Given the description of an element on the screen output the (x, y) to click on. 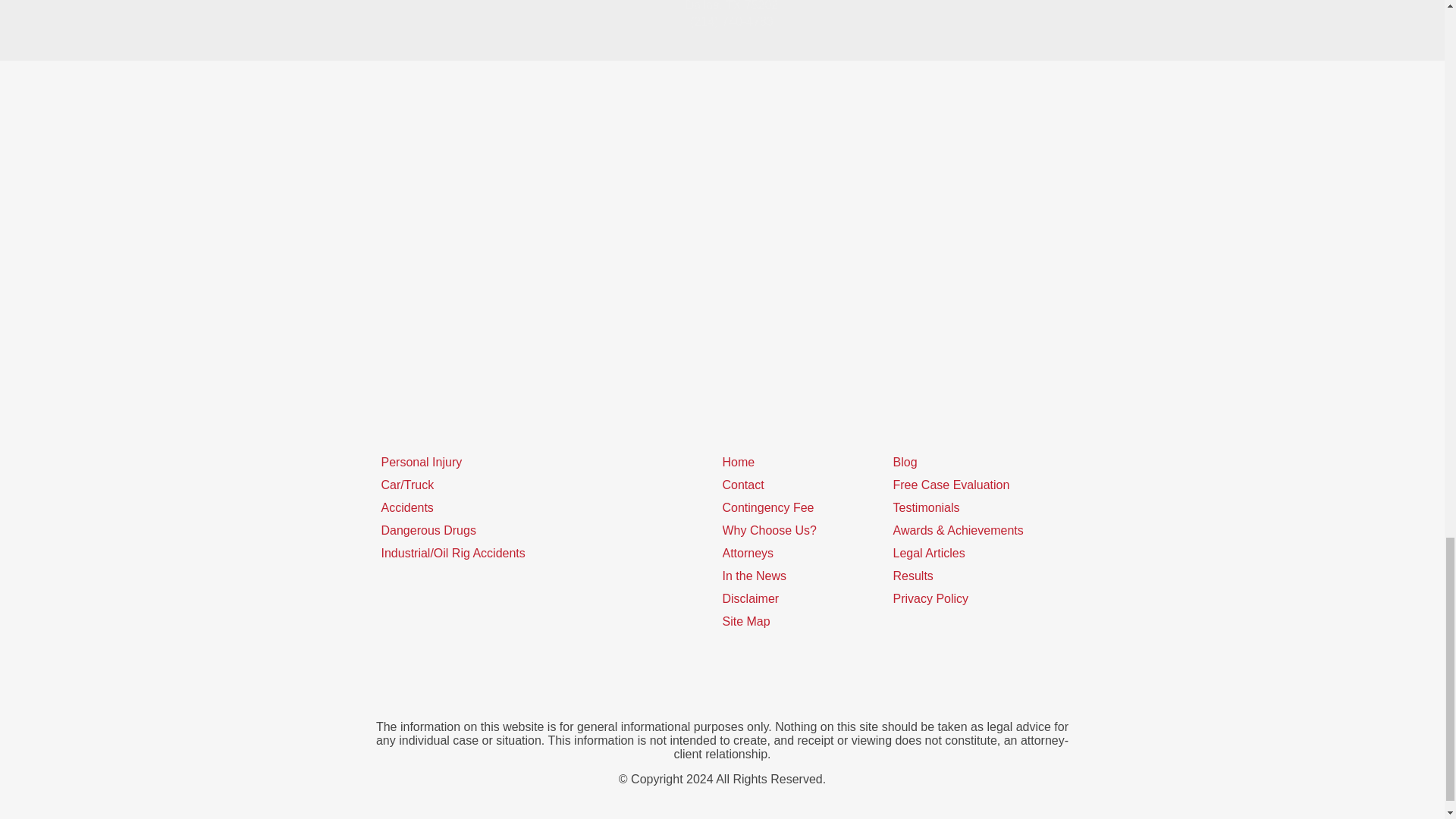
Attorneys (747, 553)
twitter (665, 683)
Dangerous Drugs (428, 530)
Free Case Evaluation (951, 484)
Contingency Fee (767, 507)
In the News (754, 575)
Home (738, 461)
Contact (742, 484)
youtube (722, 683)
Blog (905, 461)
